Given the description of an element on the screen output the (x, y) to click on. 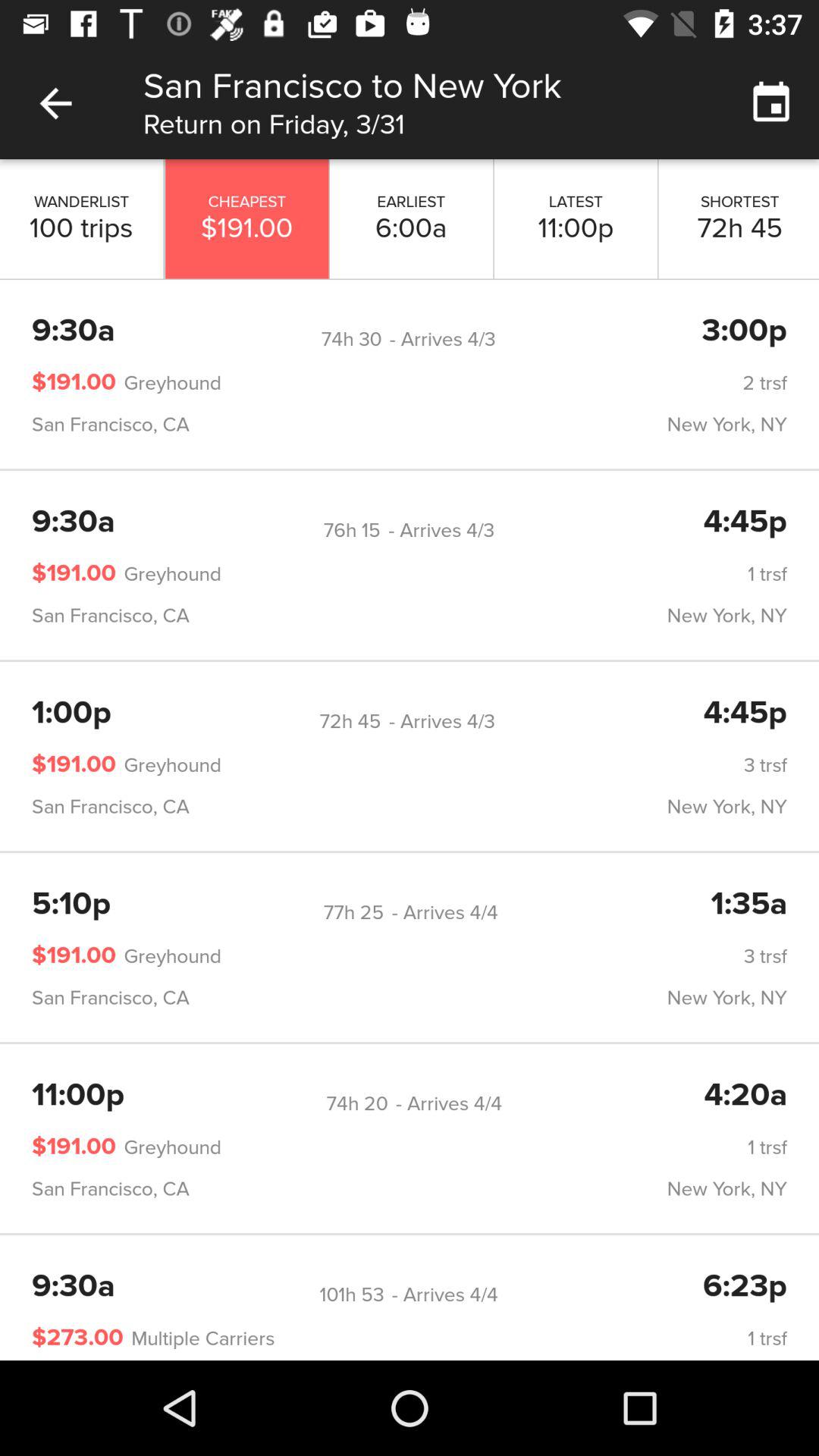
select the icon above the 2 trsf (351, 339)
